Given the description of an element on the screen output the (x, y) to click on. 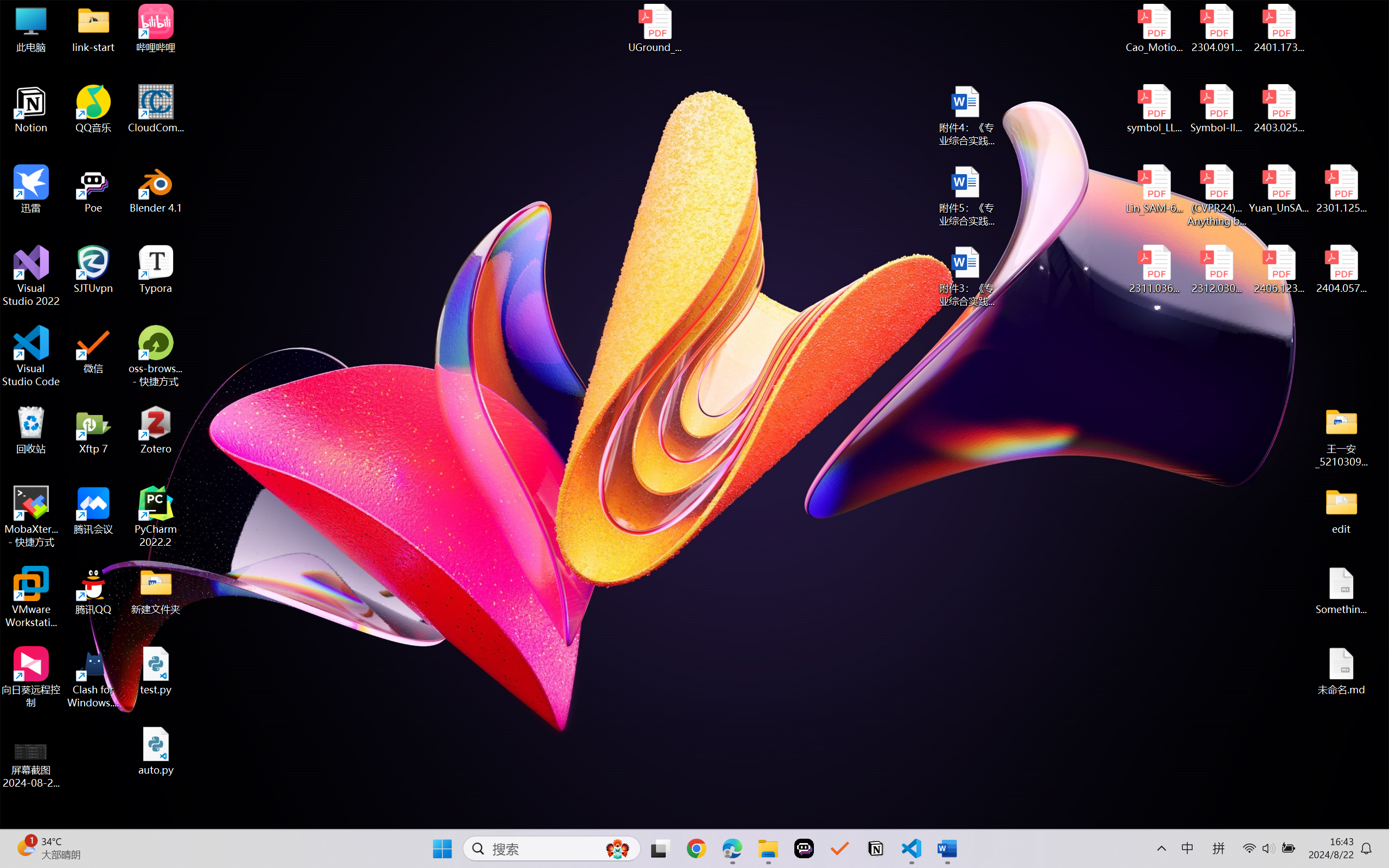
2311.03658v2.pdf (1154, 269)
PyCharm 2022.2 (156, 516)
Something.md (1340, 591)
Visual Studio Code (31, 355)
